Given the description of an element on the screen output the (x, y) to click on. 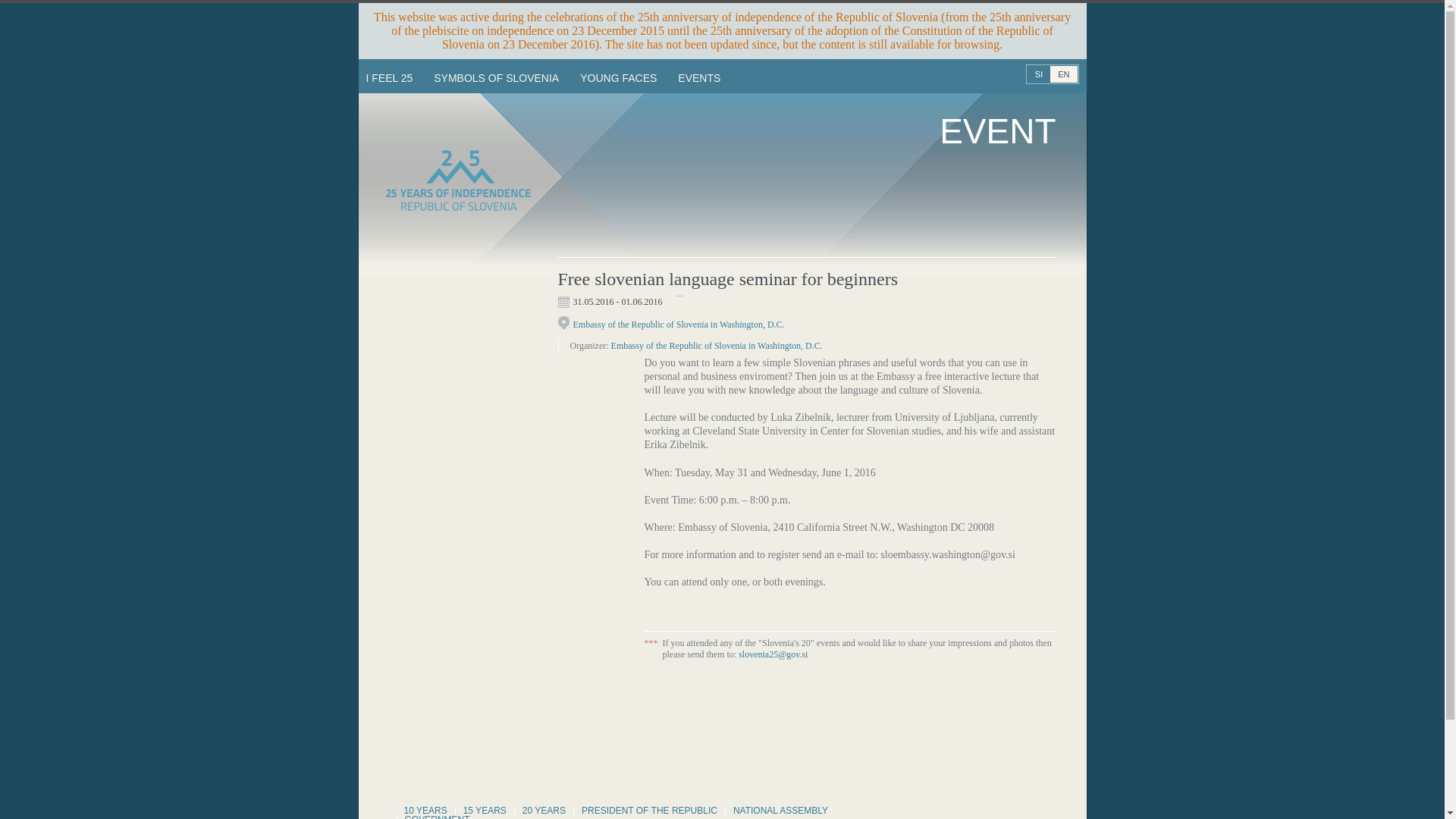
President of the Republic (649, 810)
20 YEARS (544, 810)
EVENTS (698, 78)
IN Government (437, 814)
10 years (425, 810)
GOVERNMENT (437, 814)
SI (1038, 74)
10 YEARS (425, 810)
15 years (484, 810)
Embassy of the Republic of Slovenia in Washington, D.C. (716, 345)
EN (1063, 74)
15 YEARS (484, 810)
SYMBOLS OF SLOVENIA (496, 78)
NATIONAL ASSEMBLY (780, 810)
National assembly (780, 810)
